Given the description of an element on the screen output the (x, y) to click on. 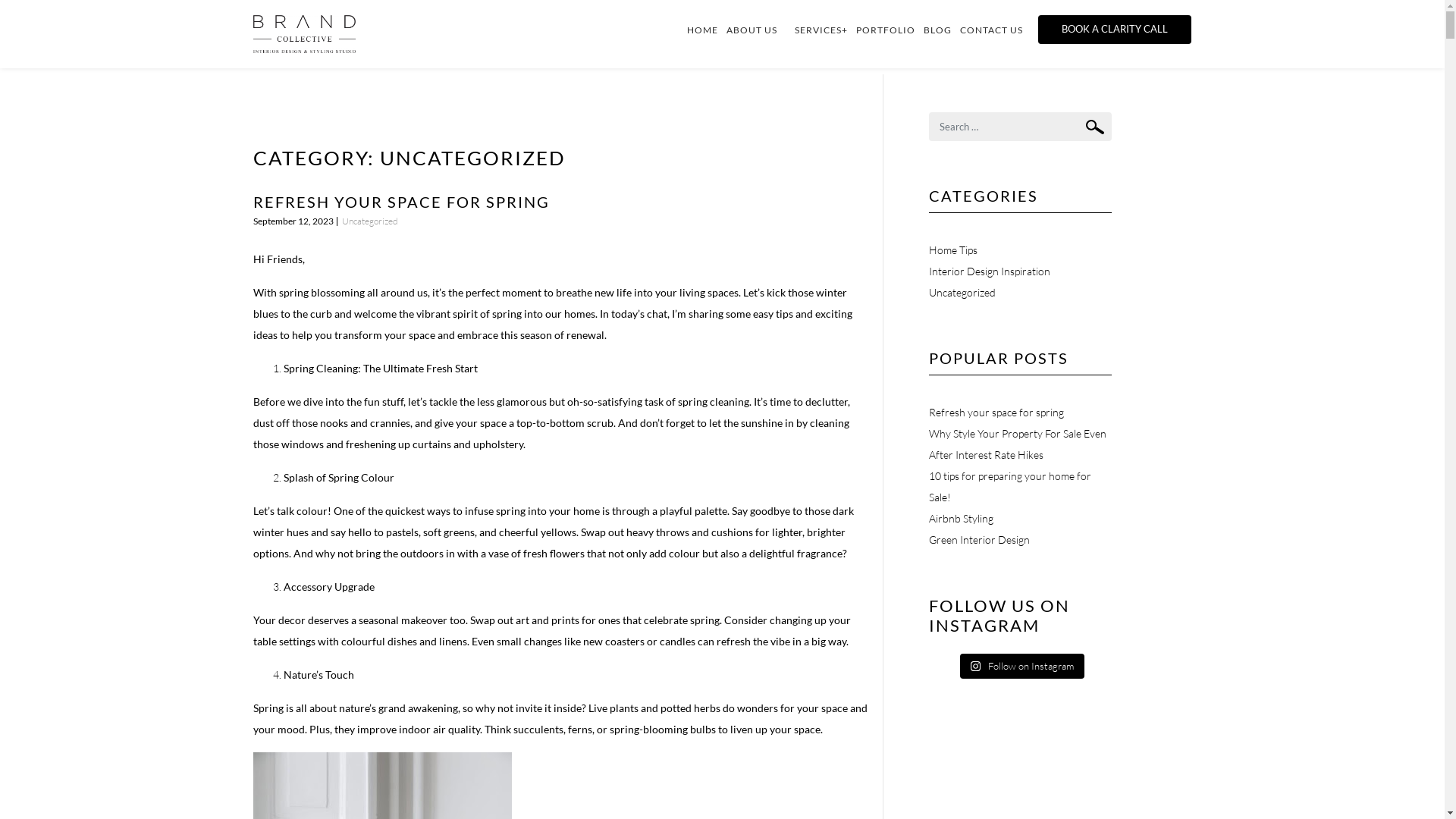
Home Tips Element type: text (952, 249)
Interior Design Inspiration Element type: text (989, 270)
Uncategorized Element type: text (961, 291)
BOOK A CLARITY CALL Element type: text (1114, 29)
ABOUT US Element type: text (756, 30)
10 tips for preparing your home for Sale! Element type: text (1009, 486)
REFRESH YOUR SPACE FOR SPRING Element type: text (401, 201)
HOME Element type: text (707, 30)
PORTFOLIO Element type: text (890, 30)
Green Interior Design Element type: text (978, 539)
Airbnb Styling Element type: text (960, 517)
Uncategorized Element type: text (369, 220)
Search Element type: text (1094, 127)
BLOG Element type: text (941, 30)
Follow on Instagram Element type: text (1022, 666)
CONTACT US Element type: text (996, 30)
Refresh your space for spring Element type: text (995, 411)
SERVICES Element type: text (820, 30)
